Given the description of an element on the screen output the (x, y) to click on. 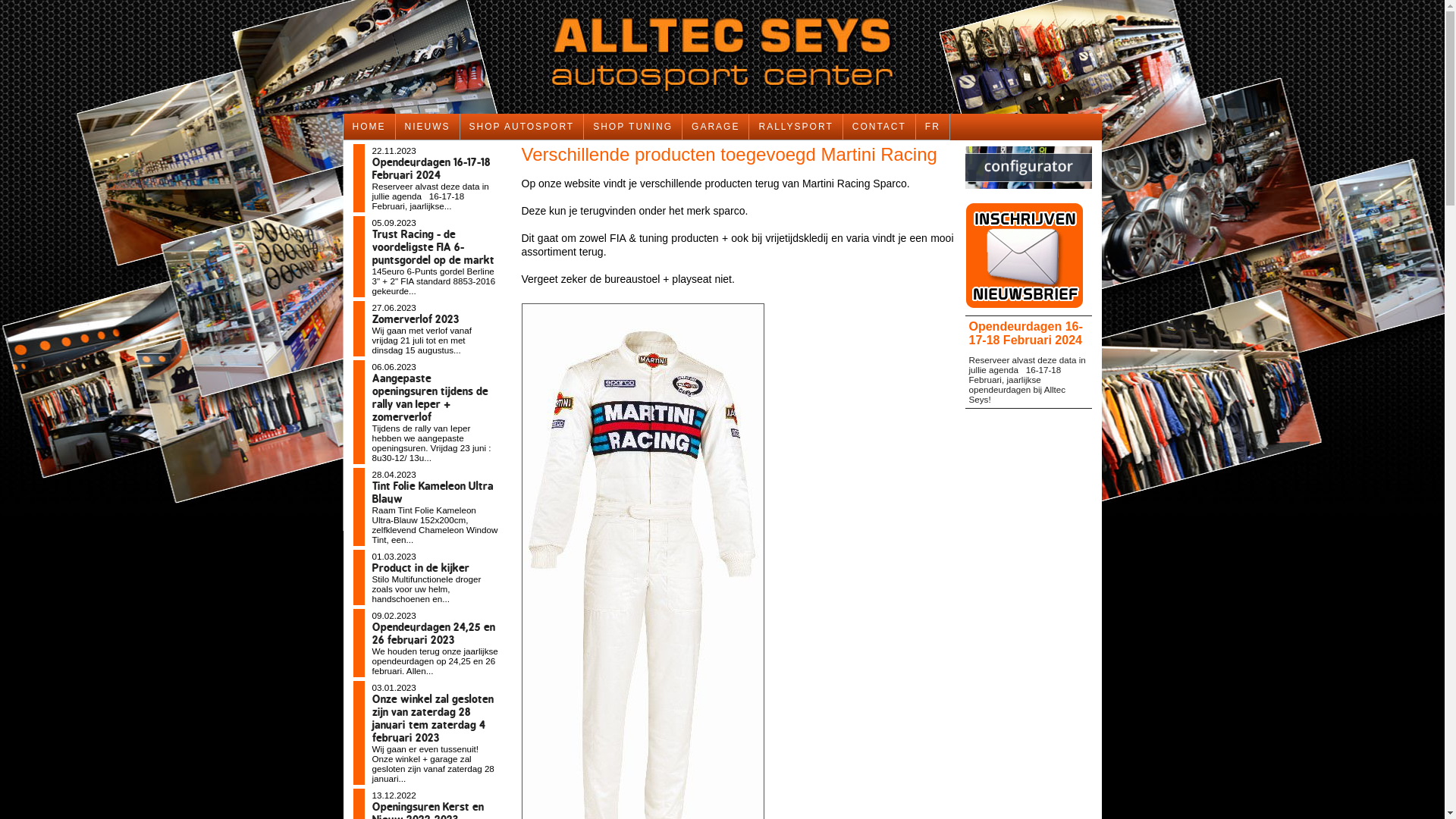
SHOP TUNING Element type: text (632, 126)
configurator Element type: hover (1027, 192)
FR Element type: text (933, 126)
HOME Element type: text (368, 126)
CONTACT Element type: text (879, 126)
RALLYSPORT Element type: text (795, 126)
SHOP AUTOSPORT Element type: text (521, 126)
NIEUWS Element type: text (427, 126)
GARAGE Element type: text (715, 126)
